Given the description of an element on the screen output the (x, y) to click on. 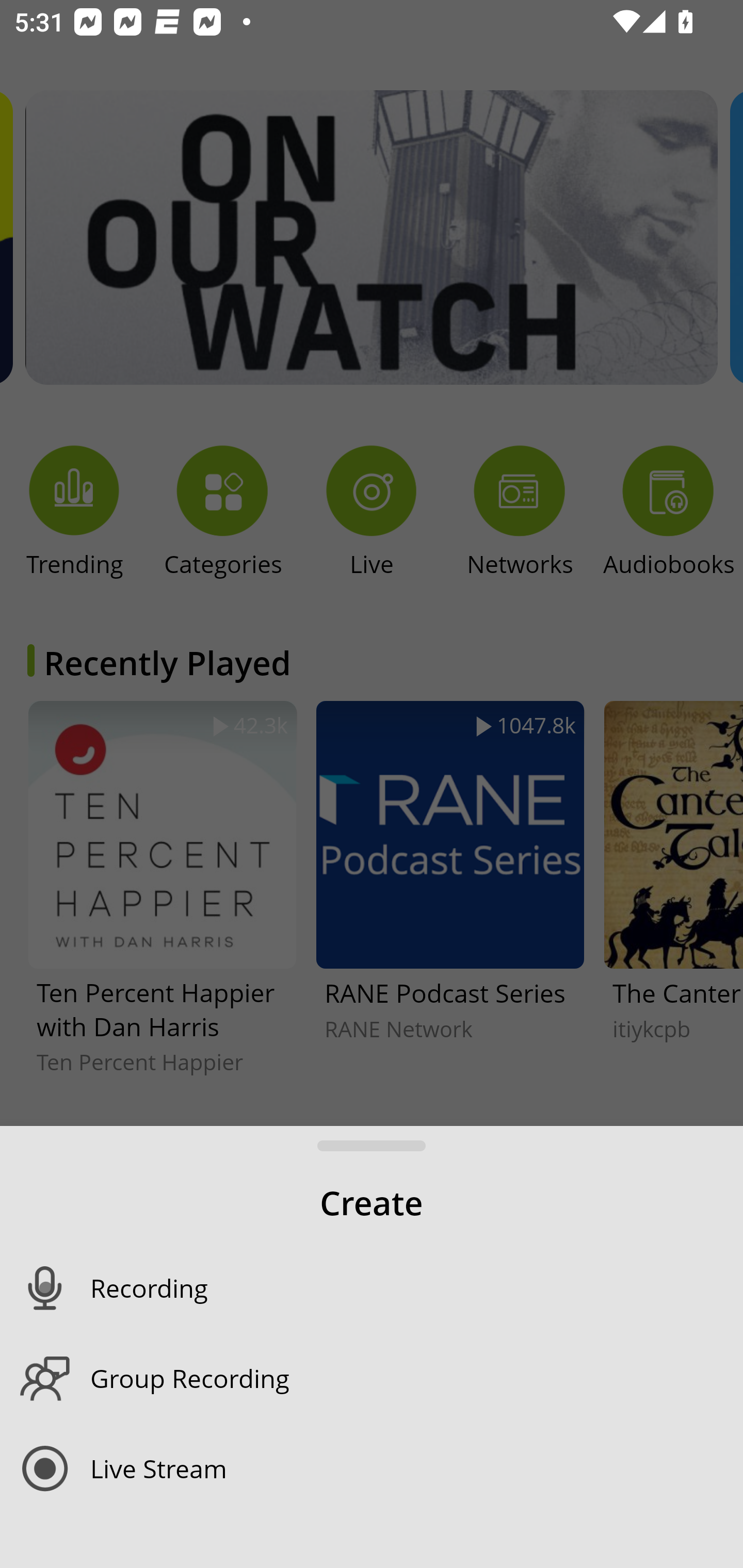
Recording (416, 1287)
Group Recording (416, 1377)
Live Stream (416, 1468)
